Given the description of an element on the screen output the (x, y) to click on. 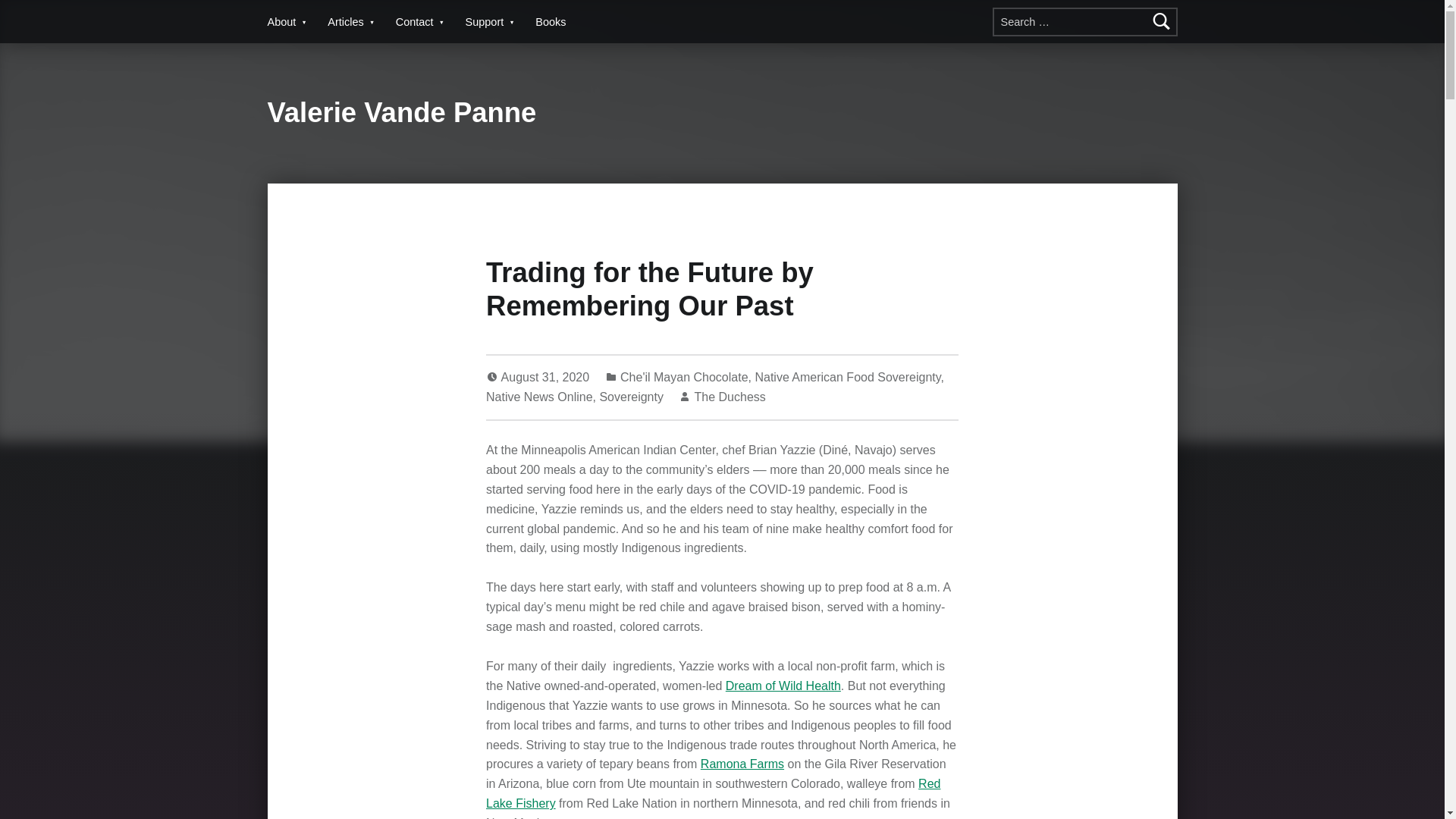
Native American Food Sovereignty (847, 377)
Valerie Vande Panne (400, 112)
August 31, 2020 (546, 377)
Native News Online (539, 396)
Search (1162, 21)
About (288, 21)
Search (1162, 21)
Posted on: August 31, 2020 (546, 377)
Search (1162, 21)
Che'il Mayan Chocolate (684, 377)
Support (492, 21)
Contact (422, 21)
Dream of Wild Health (783, 685)
The Duchess (729, 396)
Sovereignty (630, 396)
